Given the description of an element on the screen output the (x, y) to click on. 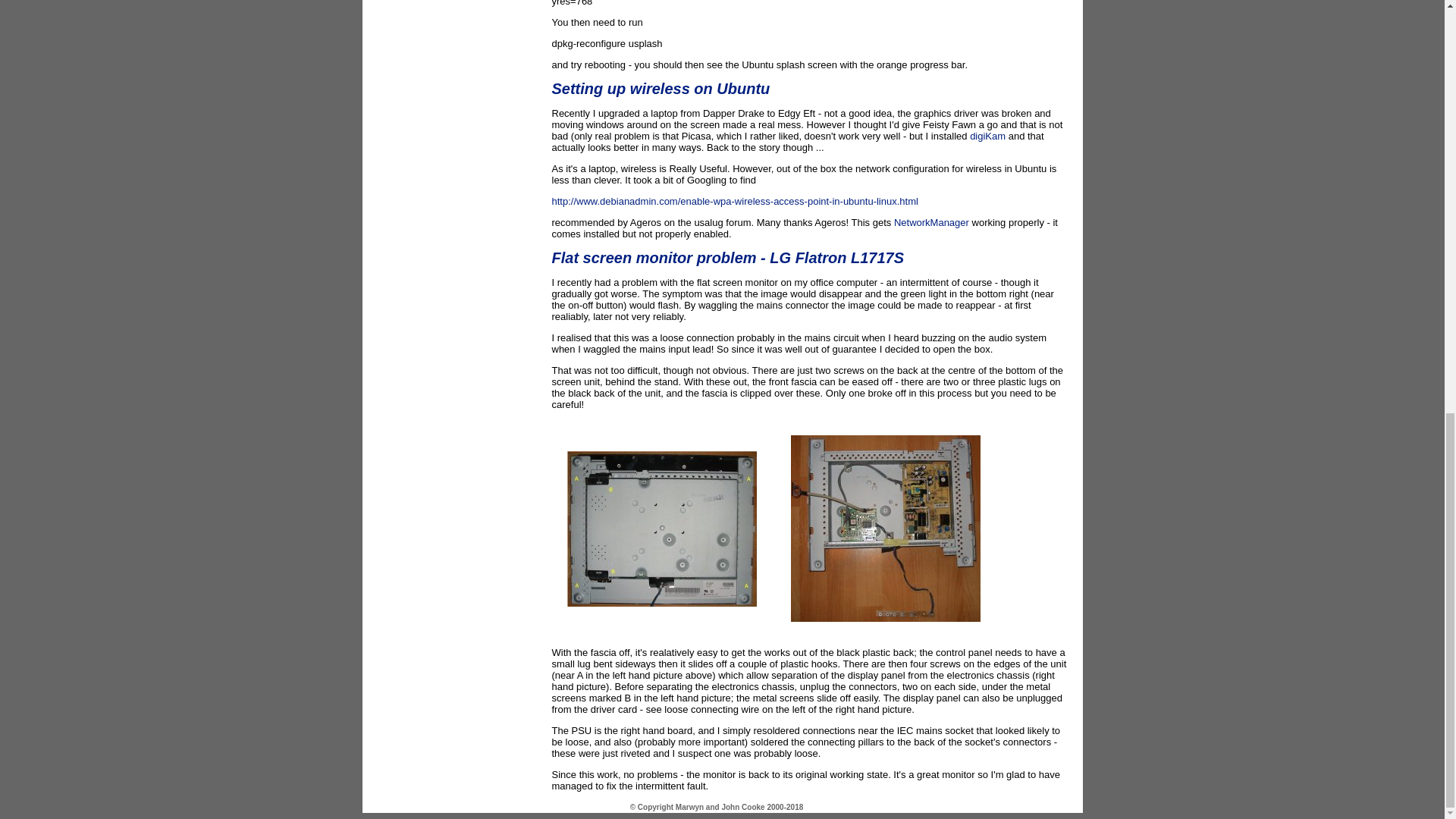
NetworkManager (931, 222)
digiKam (987, 135)
